Given the description of an element on the screen output the (x, y) to click on. 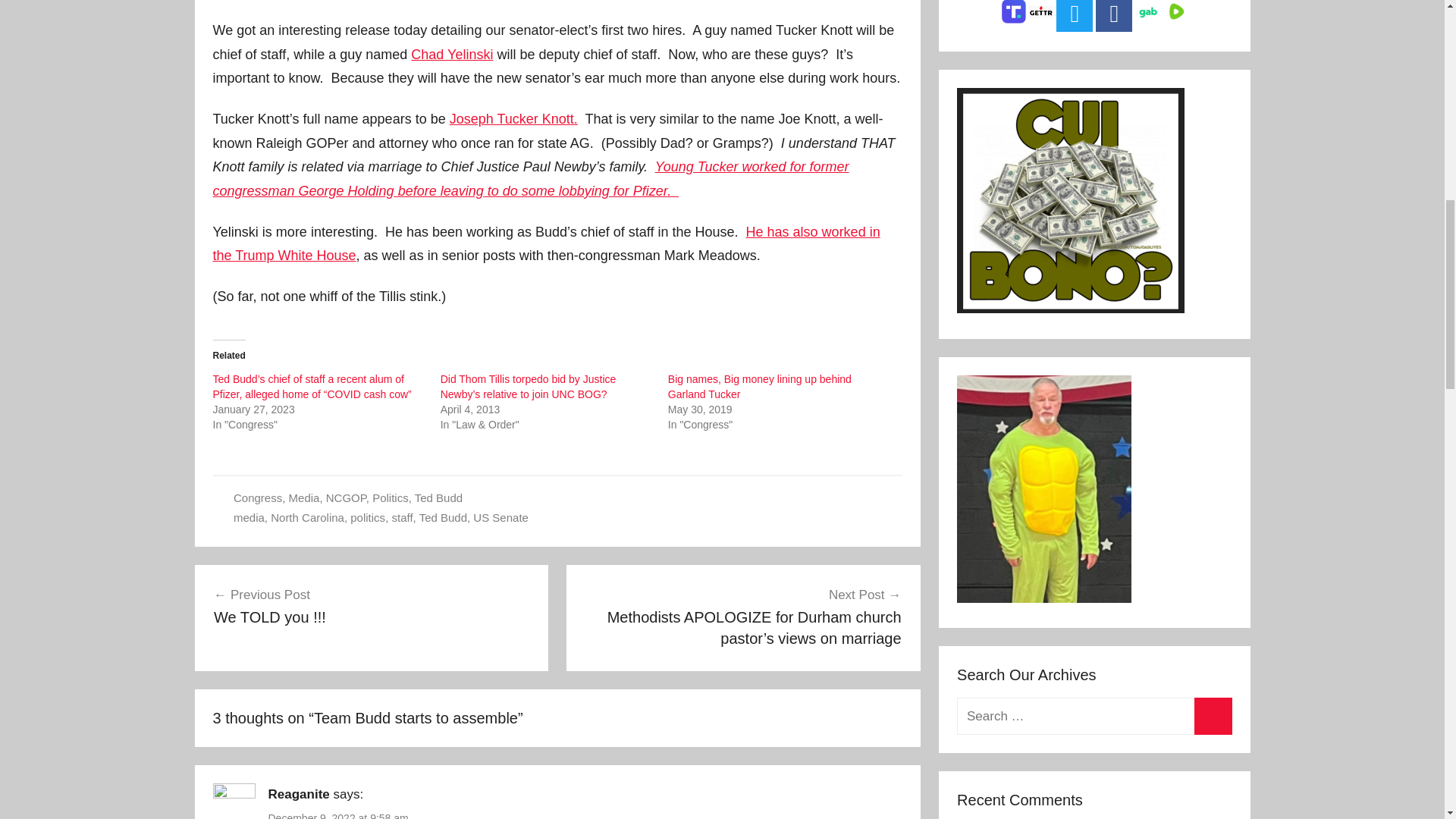
He has also worked in the Trump White House (545, 243)
Big names, Big money lining up behind Garland Tucker (759, 386)
December 9, 2022 at 9:58 am (338, 815)
gettr (1040, 15)
North Carolina (306, 517)
Big names, Big money lining up behind Garland Tucker (759, 386)
Joseph Tucker Knott. (513, 118)
gettr (1040, 11)
Chad Yelinski (451, 54)
media (371, 605)
NCGOP (248, 517)
Politics (346, 497)
truthsocial (390, 497)
